Given the description of an element on the screen output the (x, y) to click on. 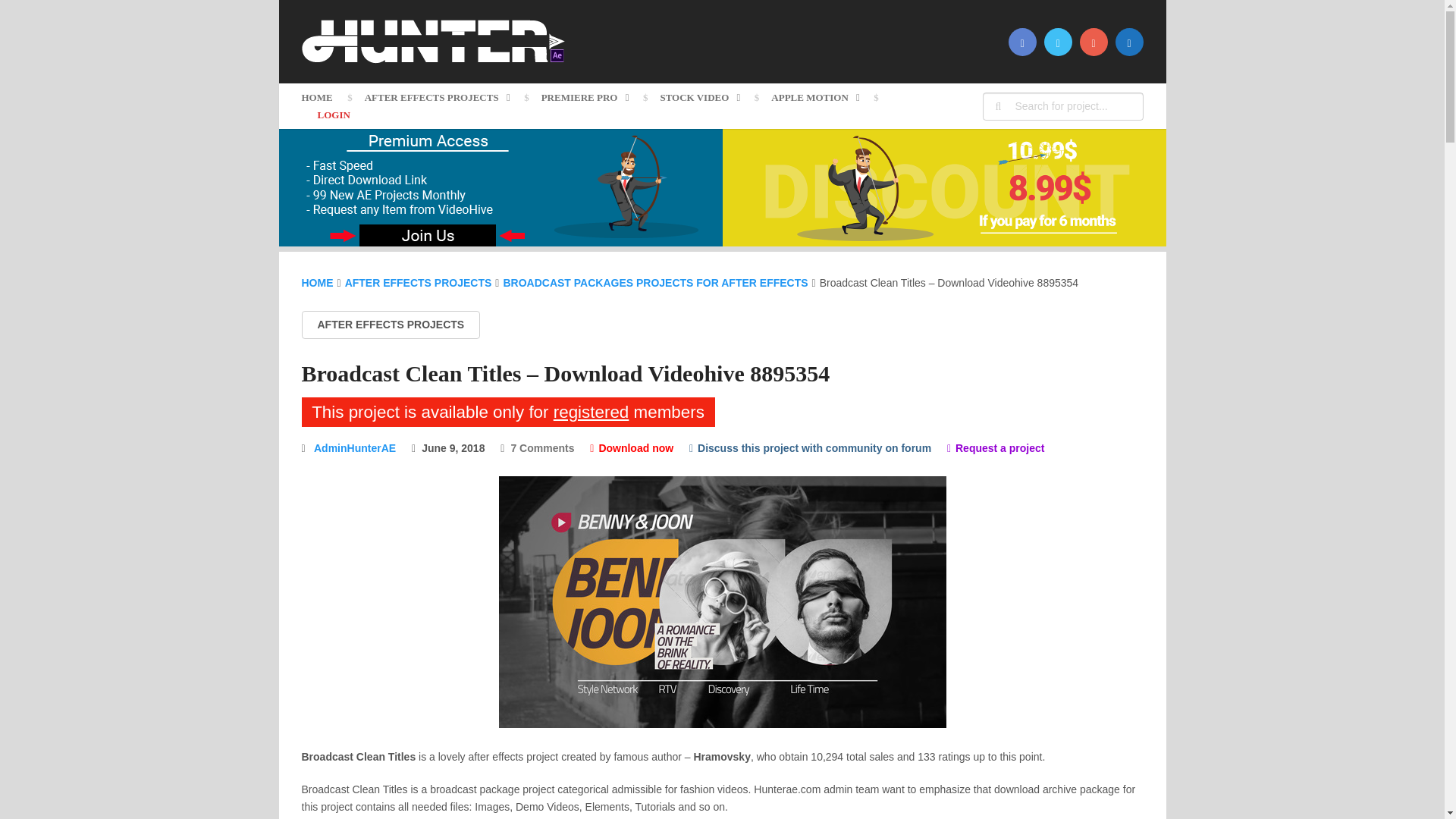
Hunterae.com Forum (809, 448)
STOCK VIDEO (699, 97)
Broadcast Clean Titles - Download Videohive 8895354 (722, 601)
PREMIERE PRO (585, 97)
Subscription Page (500, 242)
AFTER EFFECTS PROJECTS (437, 97)
HOME (325, 97)
Posts by AdminHunterAE (355, 448)
View all posts in After Effects Projects (390, 325)
